Given the description of an element on the screen output the (x, y) to click on. 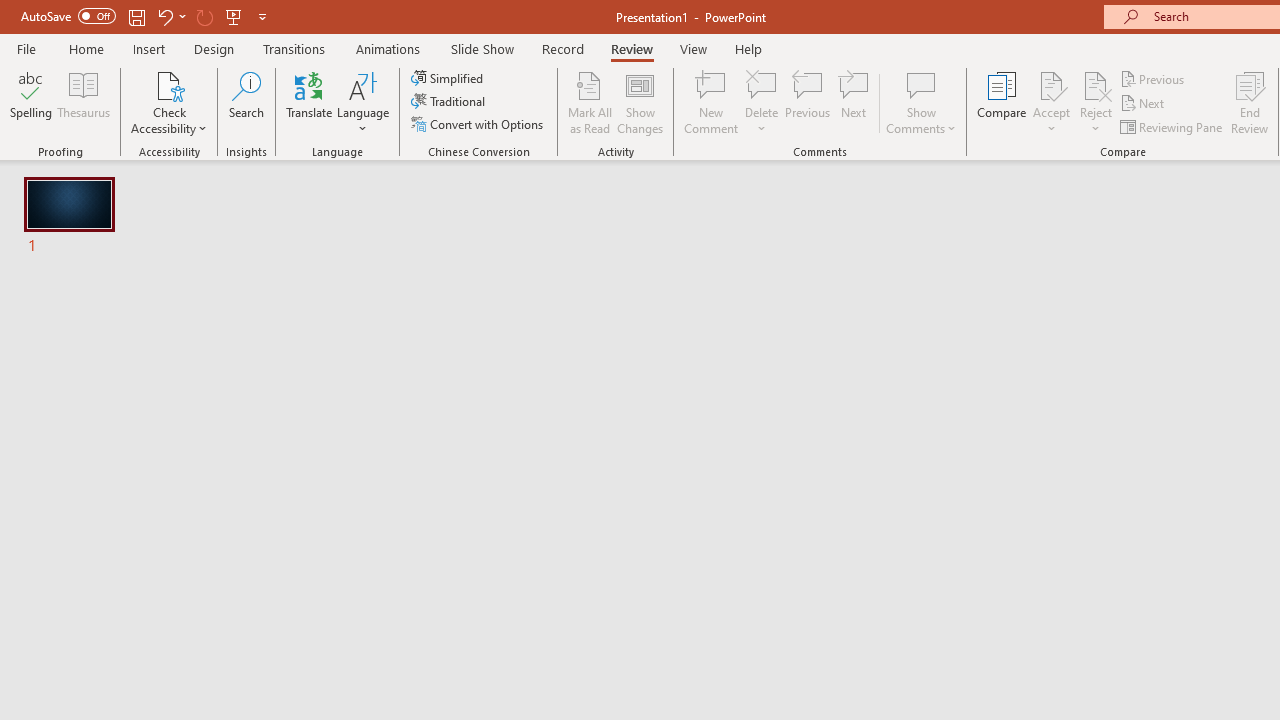
Reject Change (1096, 84)
Next (1144, 103)
End Review (1249, 102)
Mark All as Read (589, 102)
Thesaurus... (83, 102)
